Given the description of an element on the screen output the (x, y) to click on. 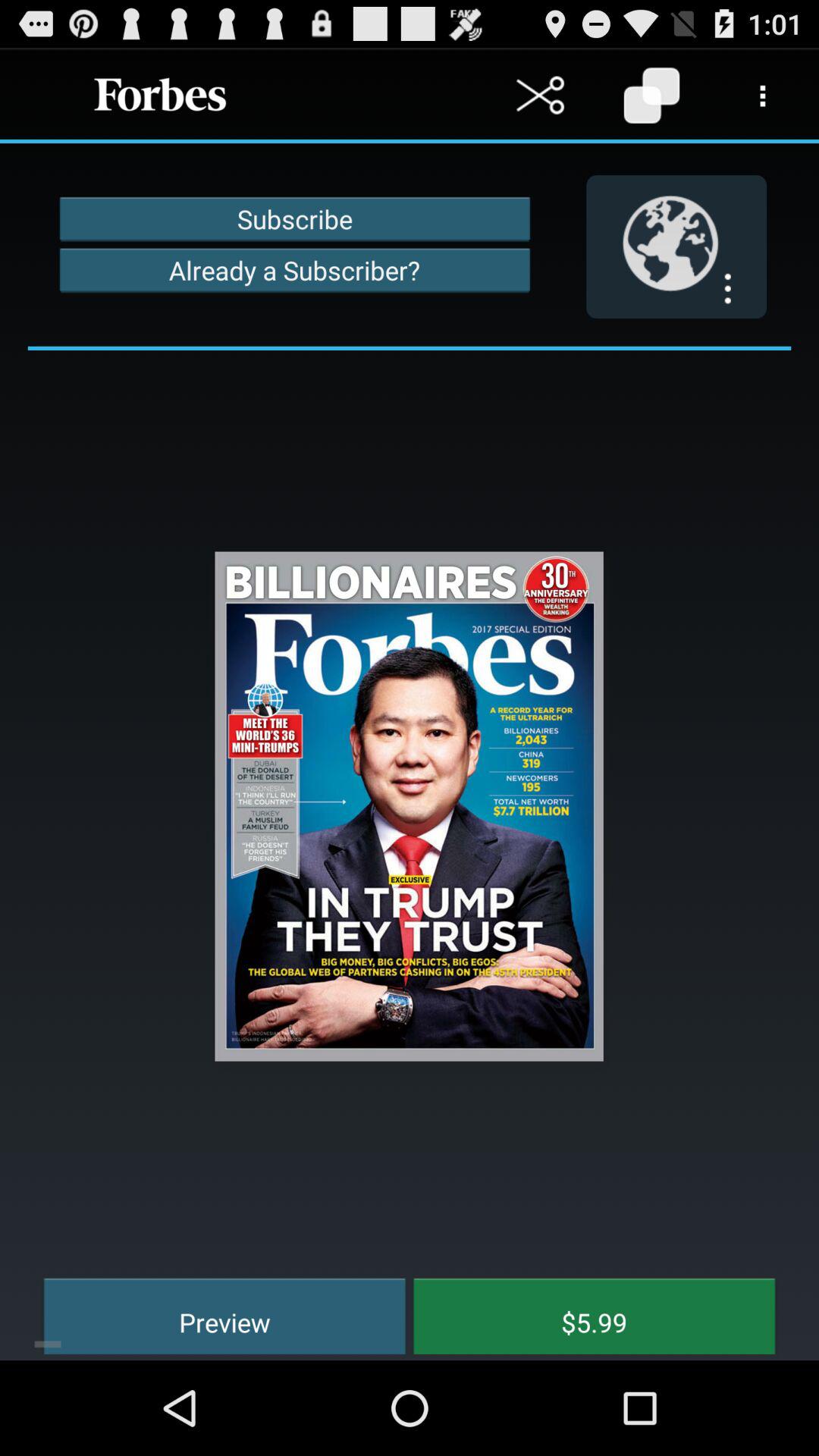
copy content (651, 95)
